Given the description of an element on the screen output the (x, y) to click on. 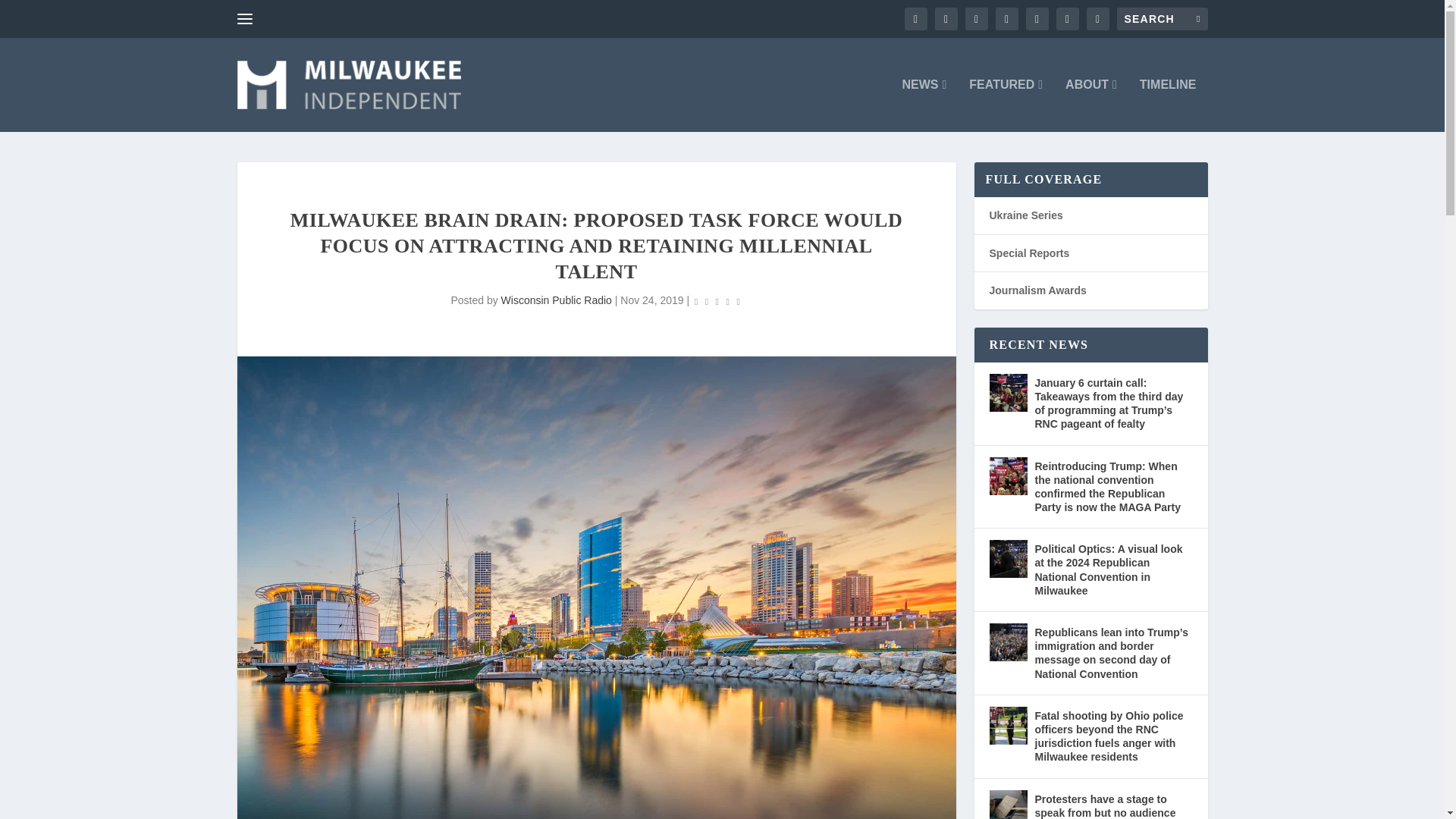
Search for: (1161, 18)
NEWS (923, 104)
TIMELINE (1168, 104)
Posts by Wisconsin Public Radio (555, 300)
Rating: 0.00 (717, 301)
FEATURED (1005, 104)
ABOUT (1090, 104)
